Given the description of an element on the screen output the (x, y) to click on. 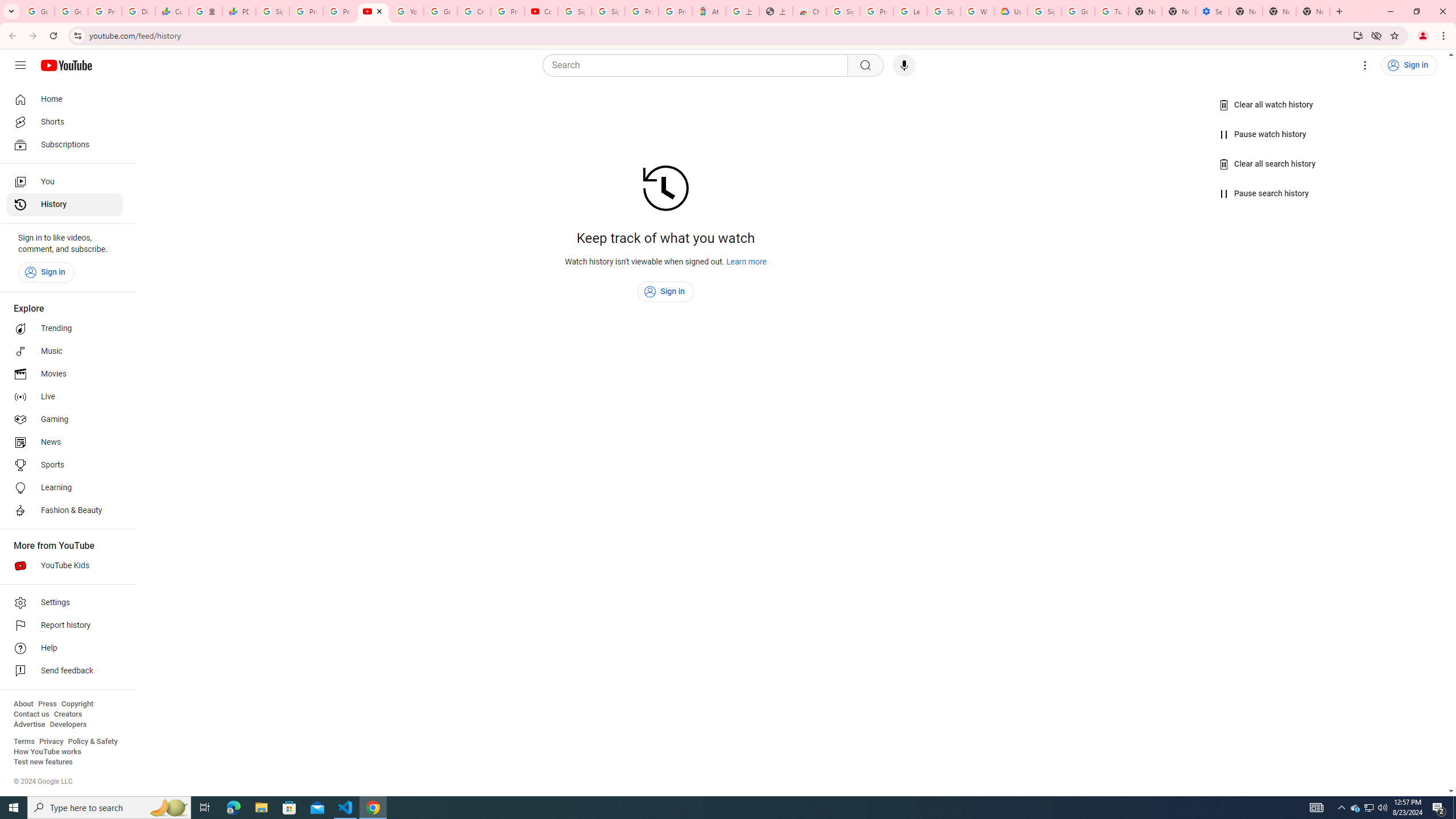
Guide (20, 65)
Content Creator Programs & Opportunities - YouTube Creators (541, 11)
Advertise (29, 724)
How YouTube works (47, 751)
Google Account Help (441, 11)
Sign in - Google Accounts (272, 11)
Google Account Help (1077, 11)
Privacy (51, 741)
Sign in - Google Accounts (943, 11)
